Given the description of an element on the screen output the (x, y) to click on. 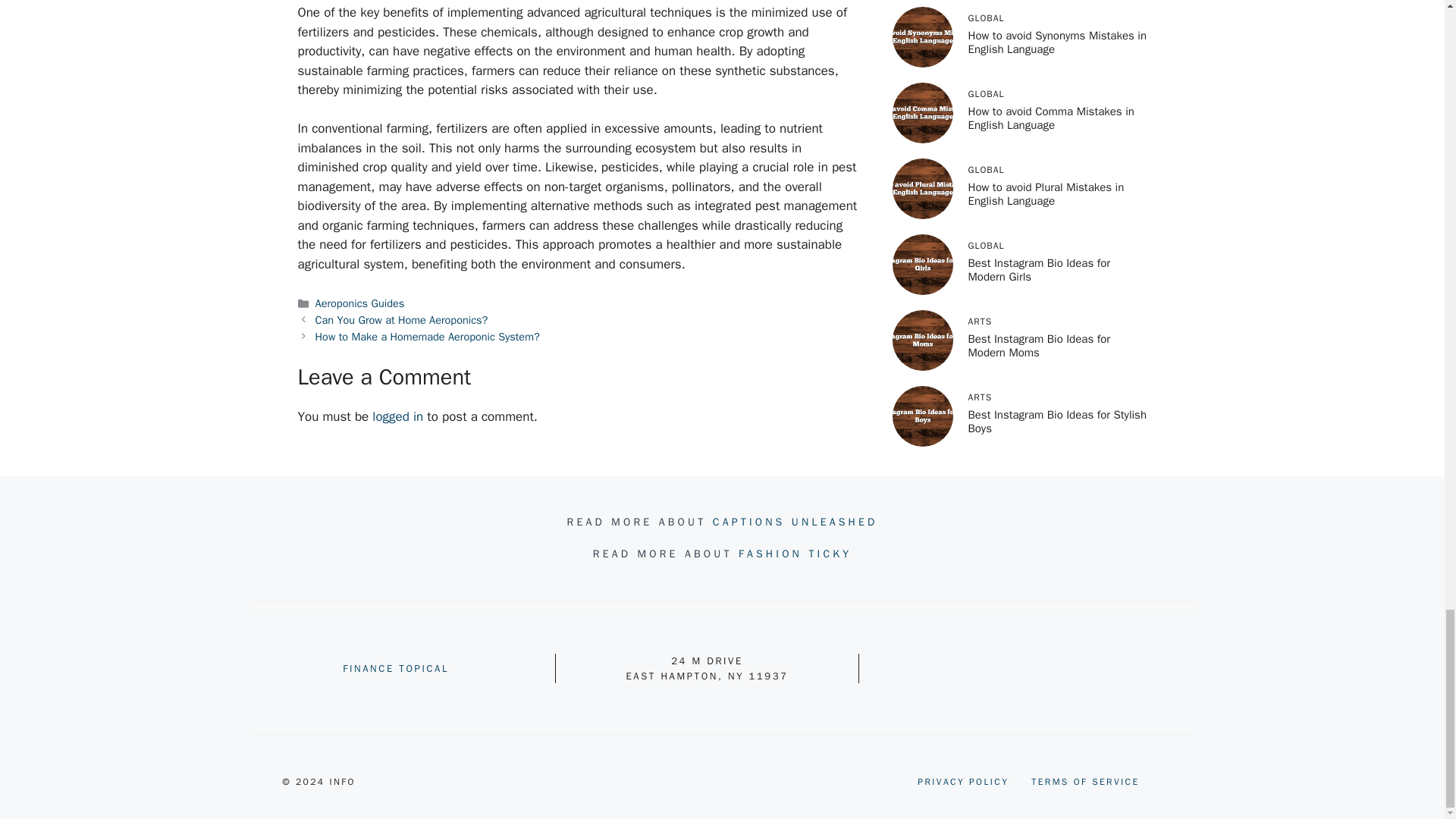
Can You Grow at Home Aeroponics? (401, 319)
logged in (397, 416)
FASHION TICKY (794, 553)
CAPTIONS UNLEASHED (795, 521)
Aeroponics Guides (359, 303)
How to Make a Homemade Aeroponic System? (427, 336)
FINANCE TOPICAL (395, 667)
